Given the description of an element on the screen output the (x, y) to click on. 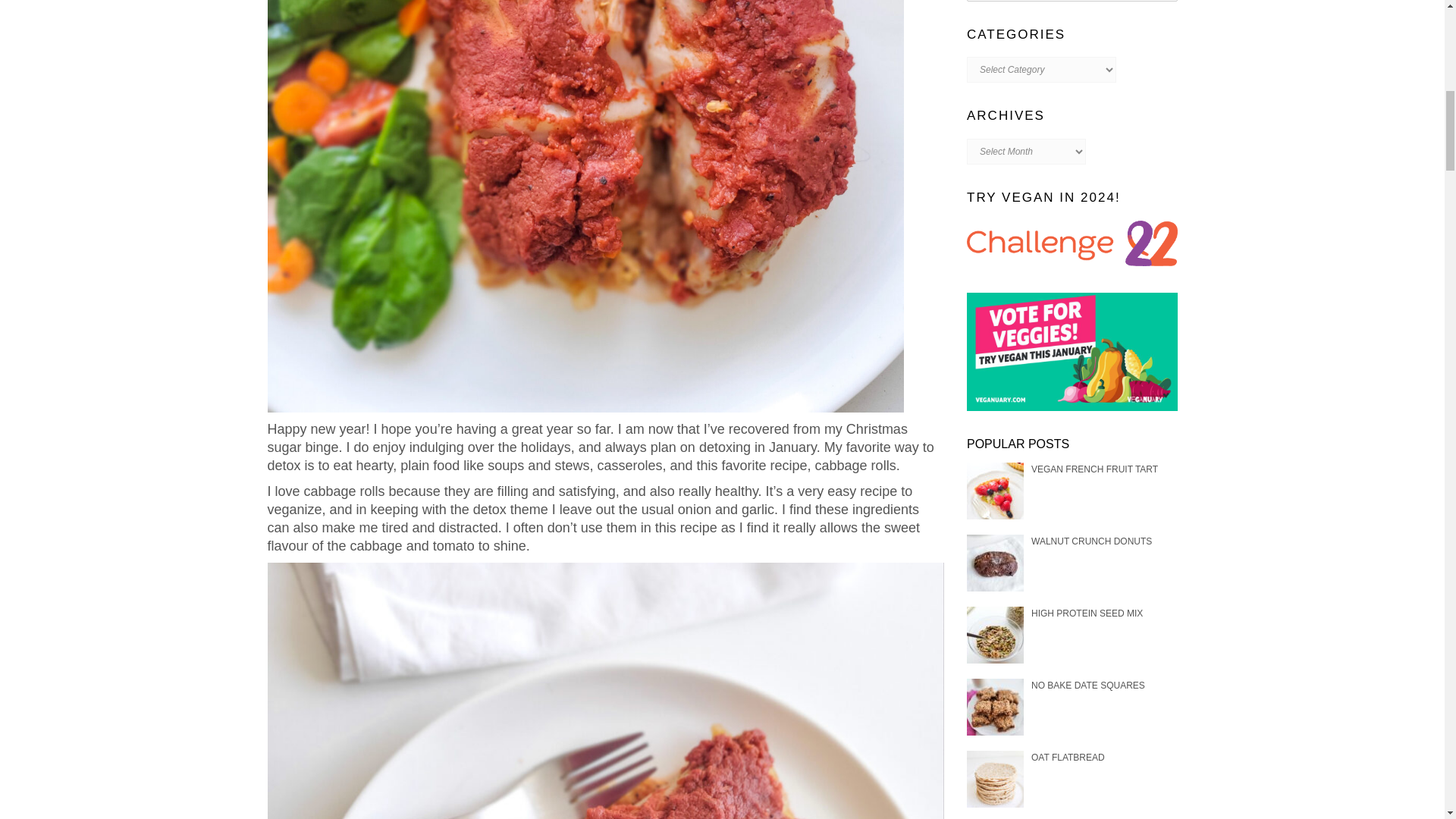
Try Vegan in 2024! (1071, 243)
